Given the description of an element on the screen output the (x, y) to click on. 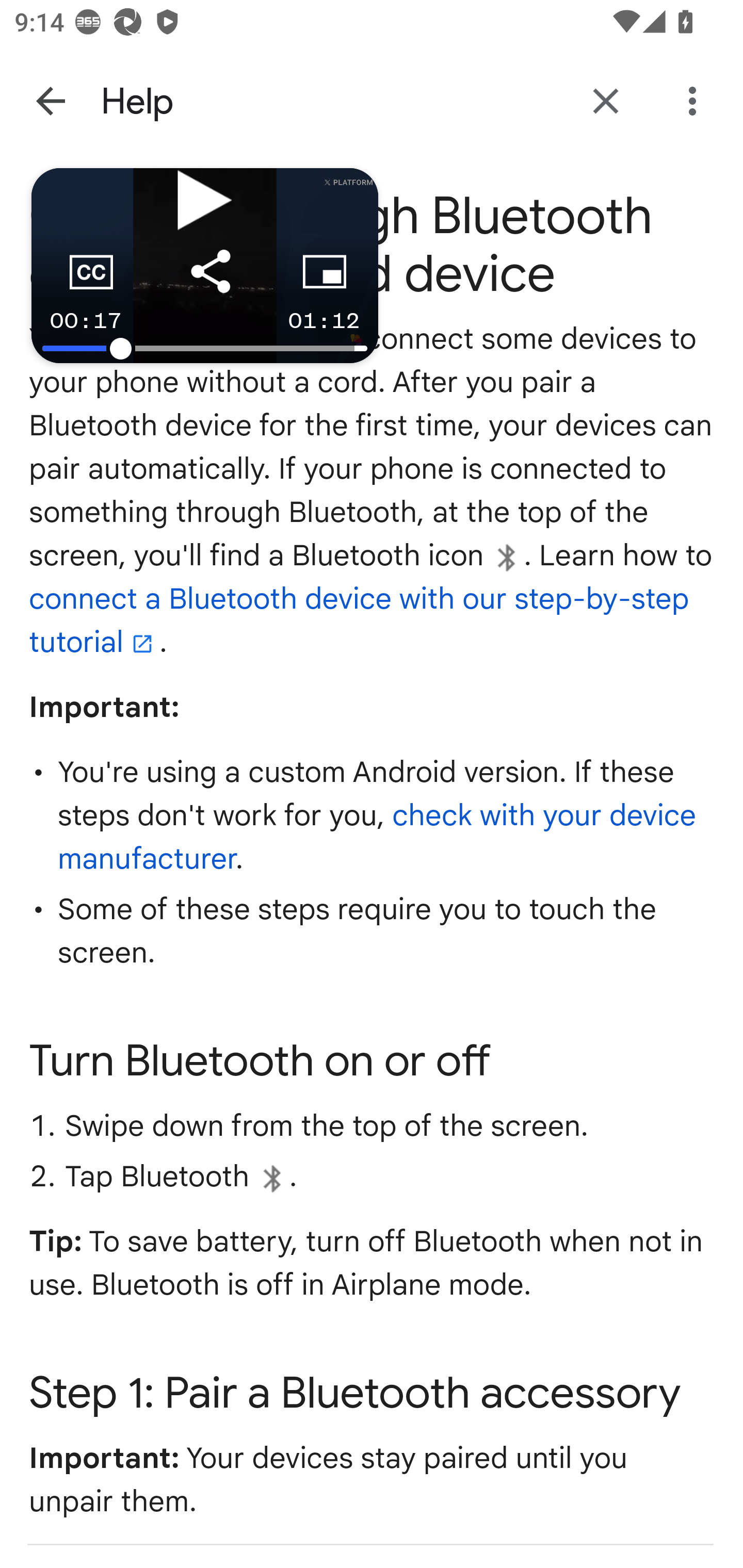
Navigate up (50, 101)
Return to Google Play services (605, 101)
More options (696, 101)
check with your device manufacturer (376, 838)
